Given the description of an element on the screen output the (x, y) to click on. 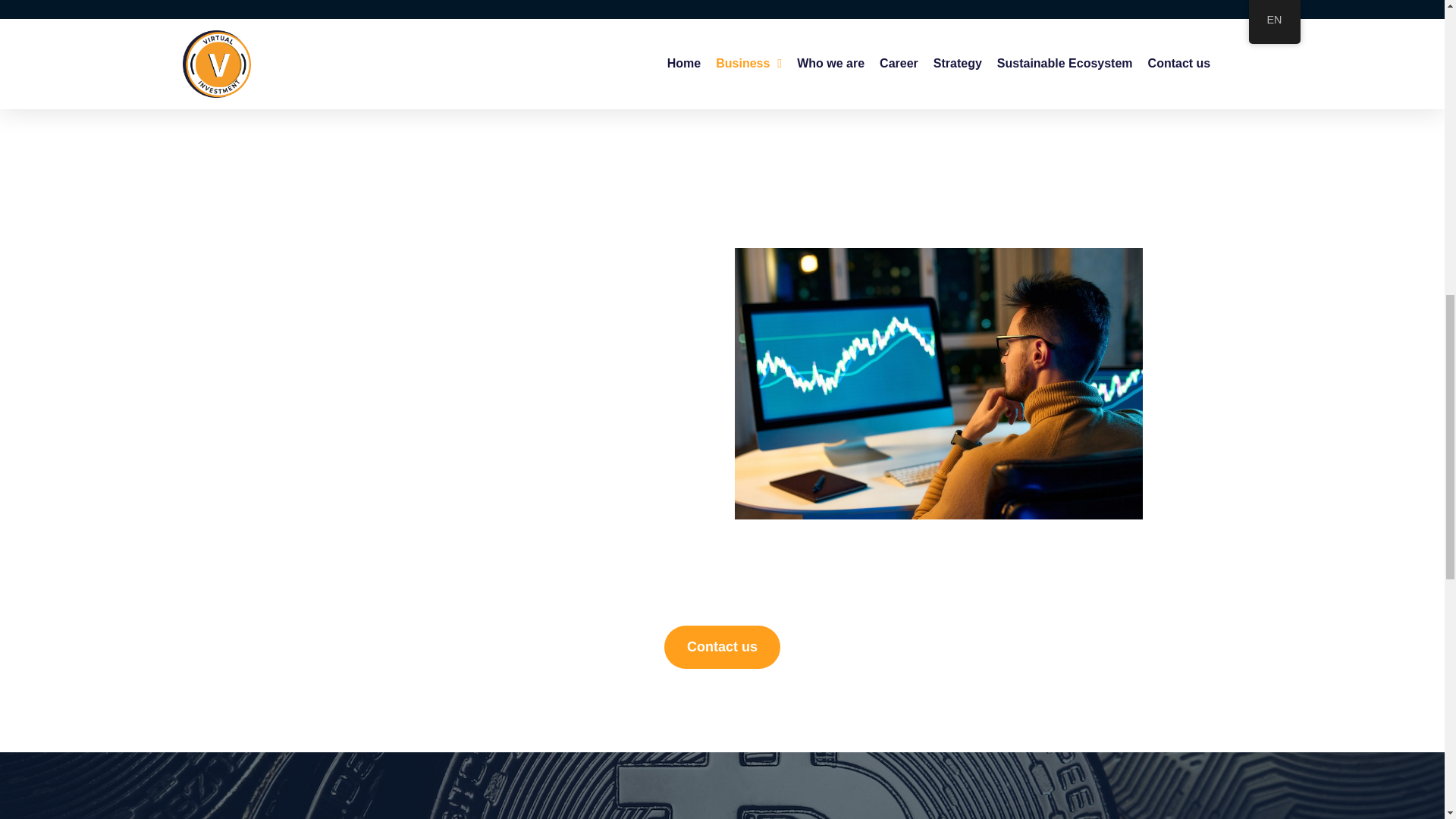
Contact us (722, 647)
Private equity (505, 16)
